Given the description of an element on the screen output the (x, y) to click on. 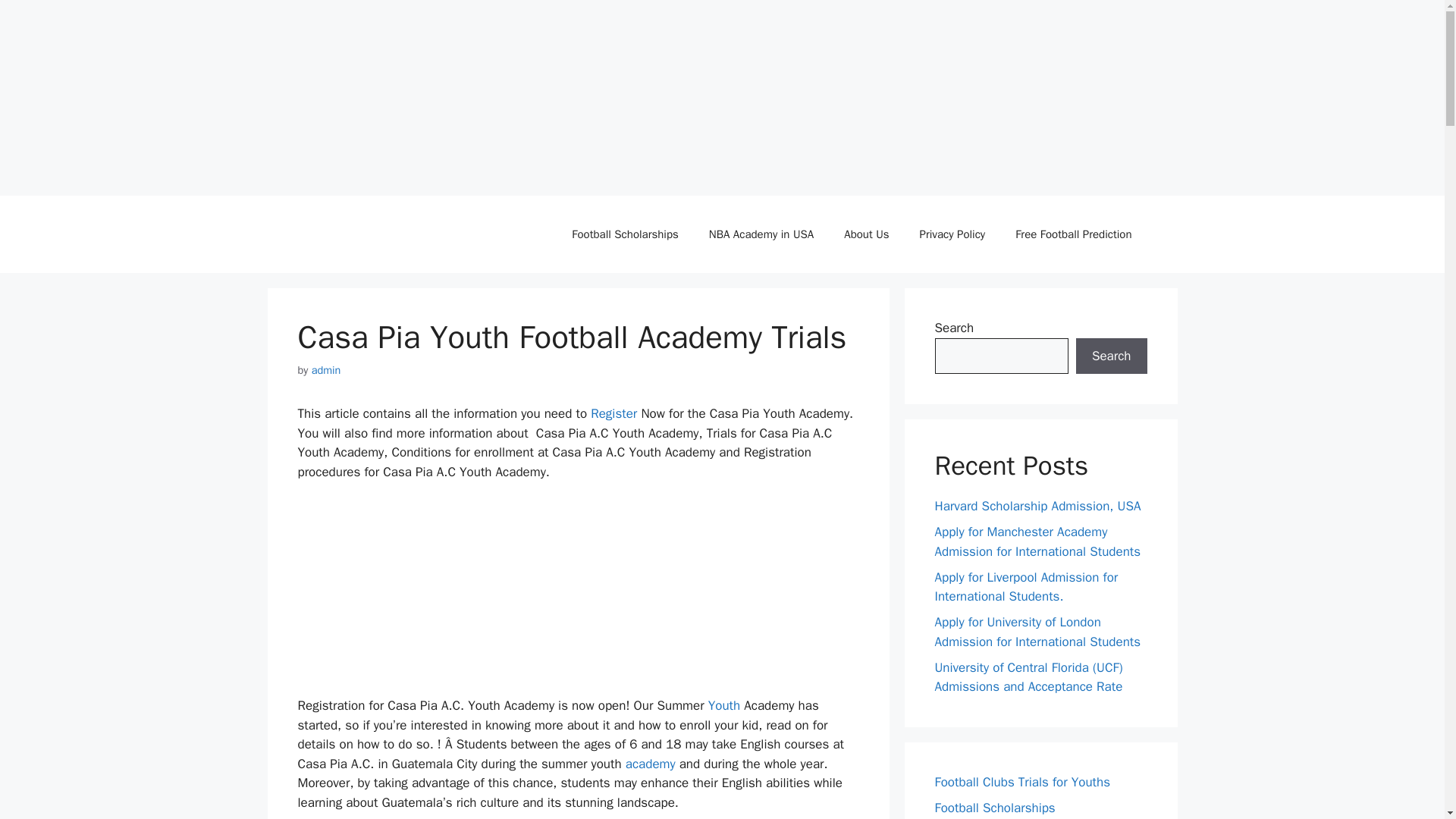
Football Scholarships (624, 234)
View all posts by admin (325, 369)
Youth (722, 705)
About Us (866, 234)
admin (325, 369)
Free Football Prediction (1073, 234)
academy (650, 763)
Register (614, 413)
Privacy Policy (952, 234)
NBA Academy in USA (761, 234)
